Given the description of an element on the screen output the (x, y) to click on. 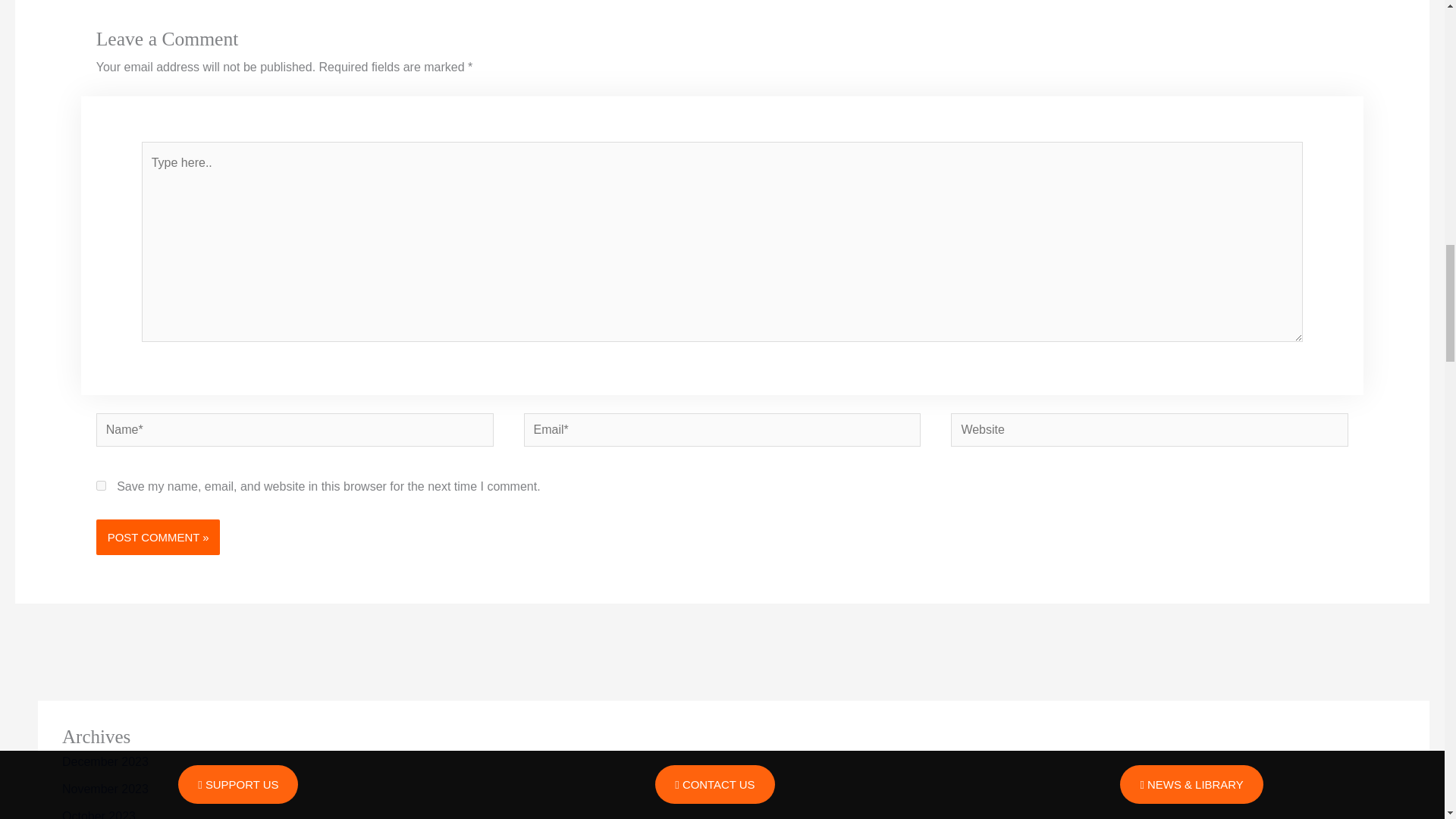
yes (101, 485)
